Given the description of an element on the screen output the (x, y) to click on. 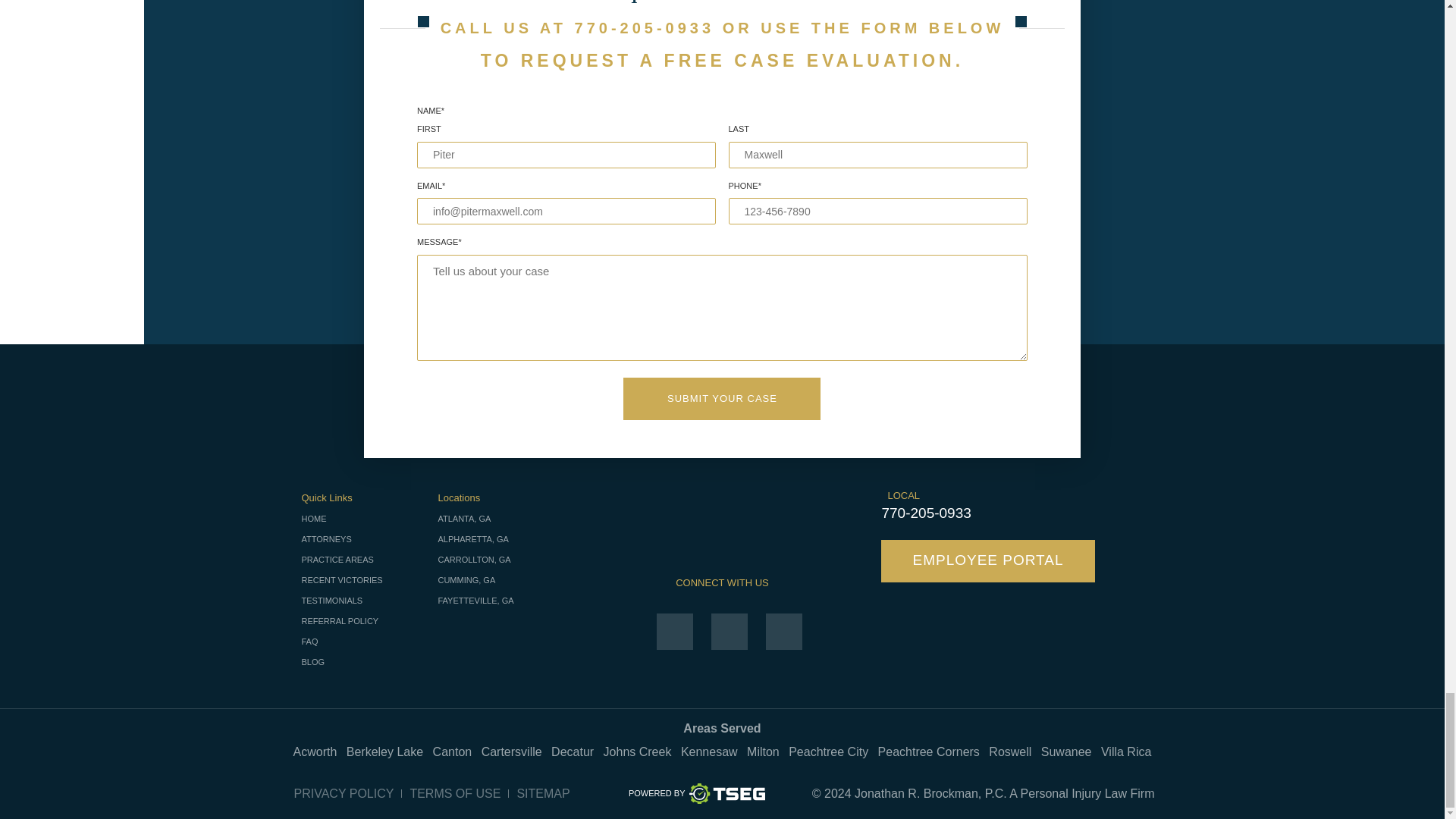
Submit Your Case (722, 397)
